Given the description of an element on the screen output the (x, y) to click on. 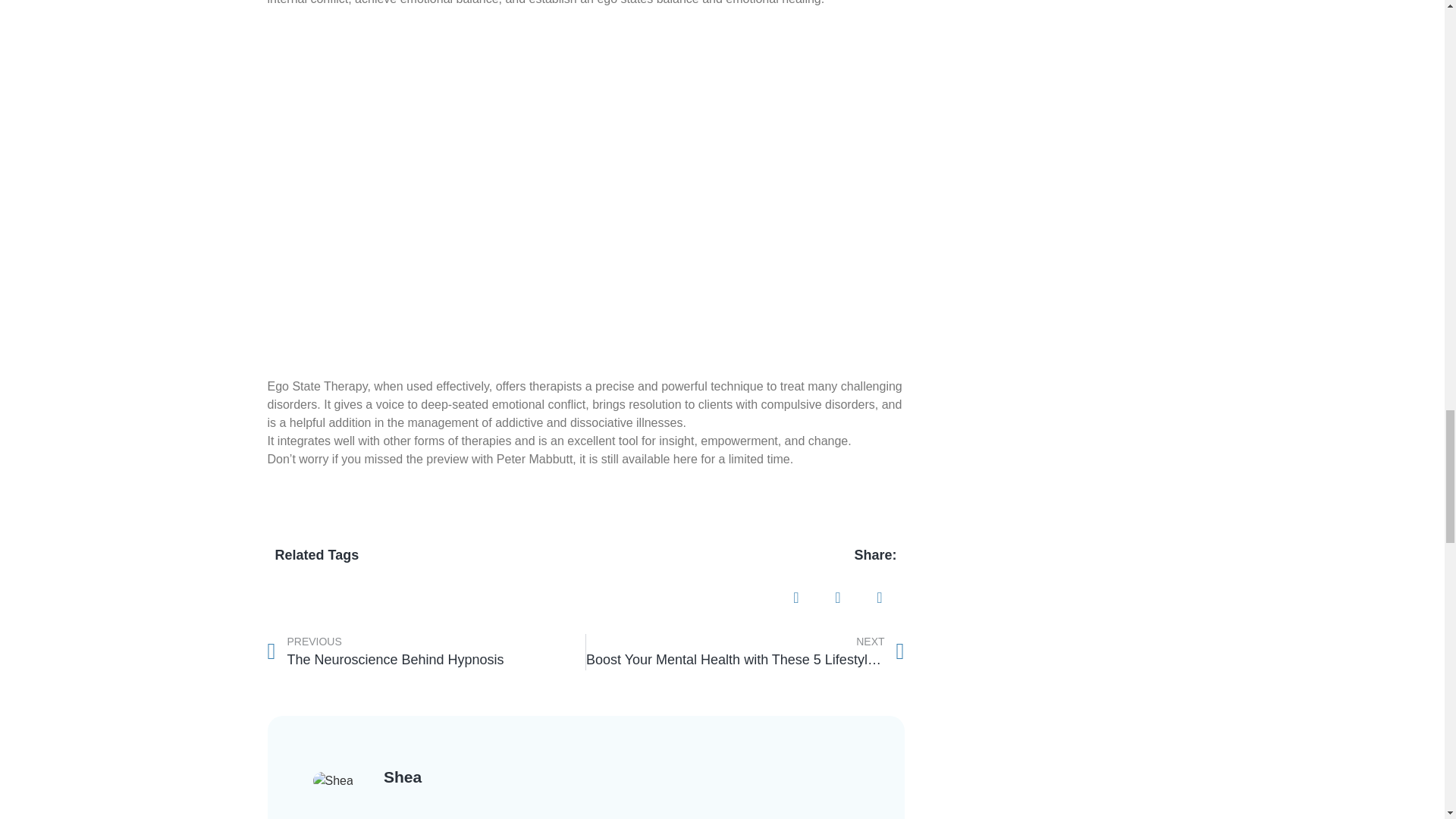
What can Ego State Therapy integrate with   Peter Mabbutt (425, 651)
